Given the description of an element on the screen output the (x, y) to click on. 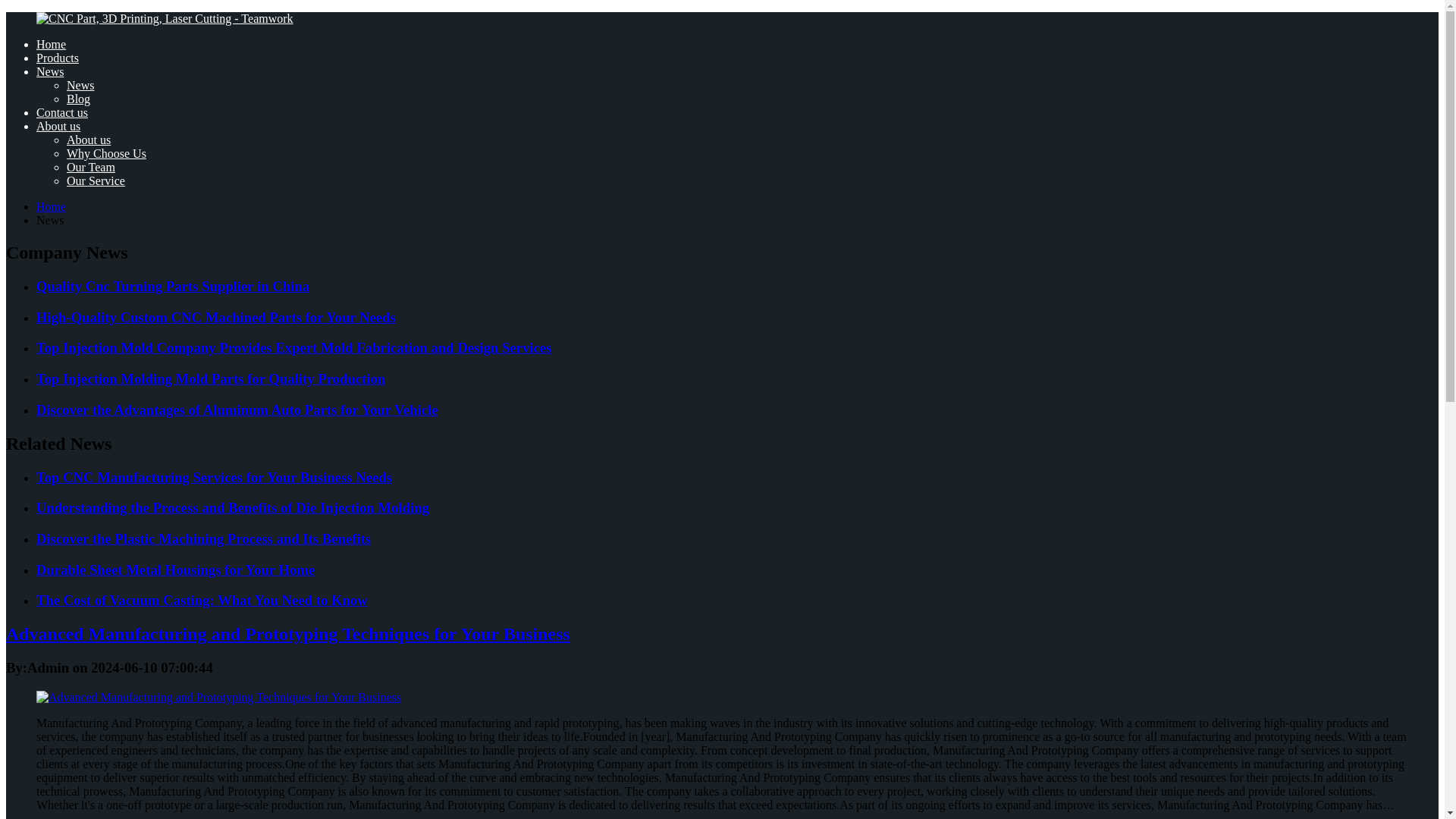
News (50, 71)
Our Service (95, 180)
Our Team (90, 166)
Contact us (61, 112)
Home (50, 205)
Home (50, 43)
Blog (78, 98)
Why Choose Us (106, 153)
News (80, 84)
